Given the description of an element on the screen output the (x, y) to click on. 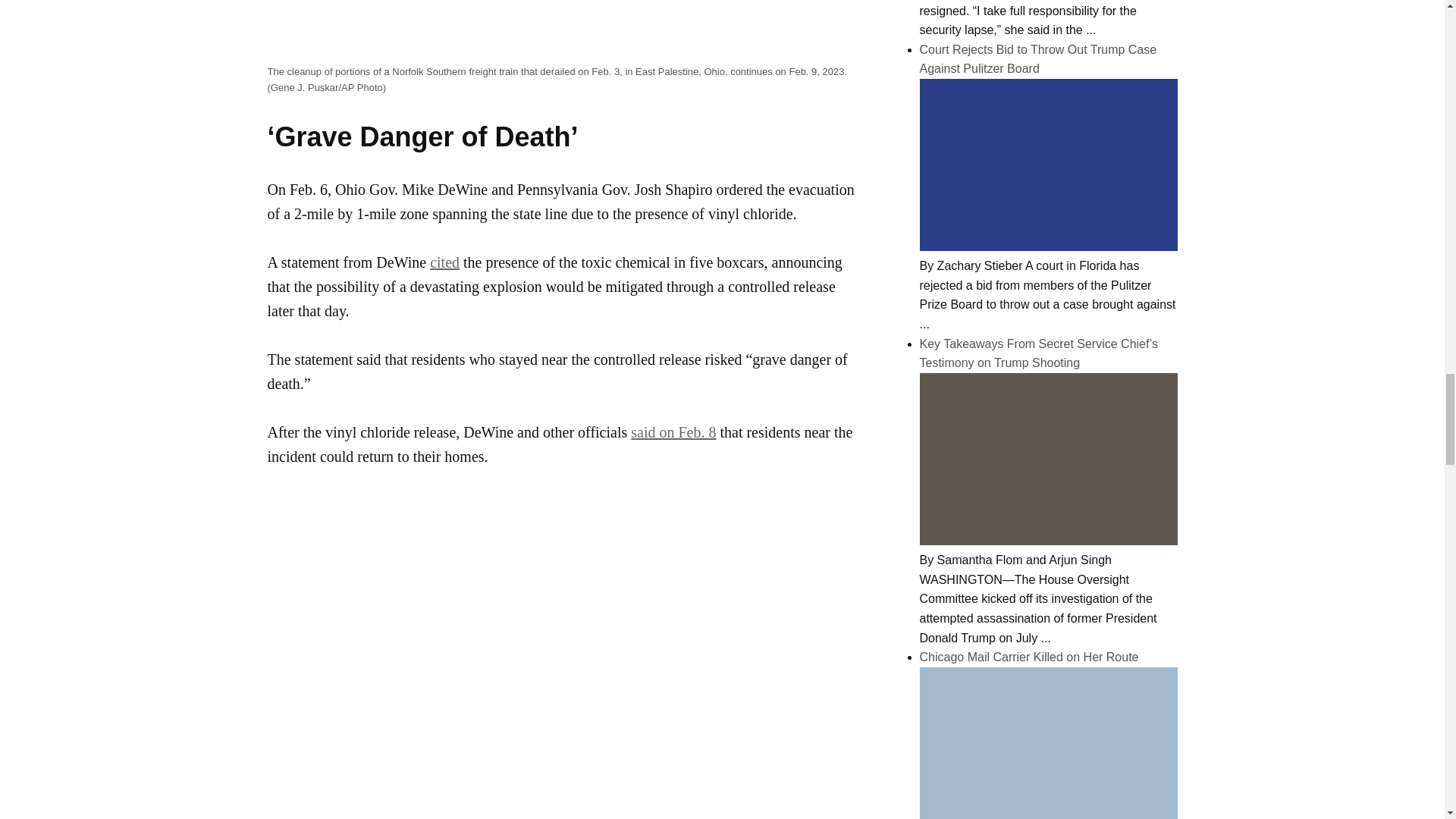
said on Feb. 8 (673, 432)
cited (444, 262)
